Given the description of an element on the screen output the (x, y) to click on. 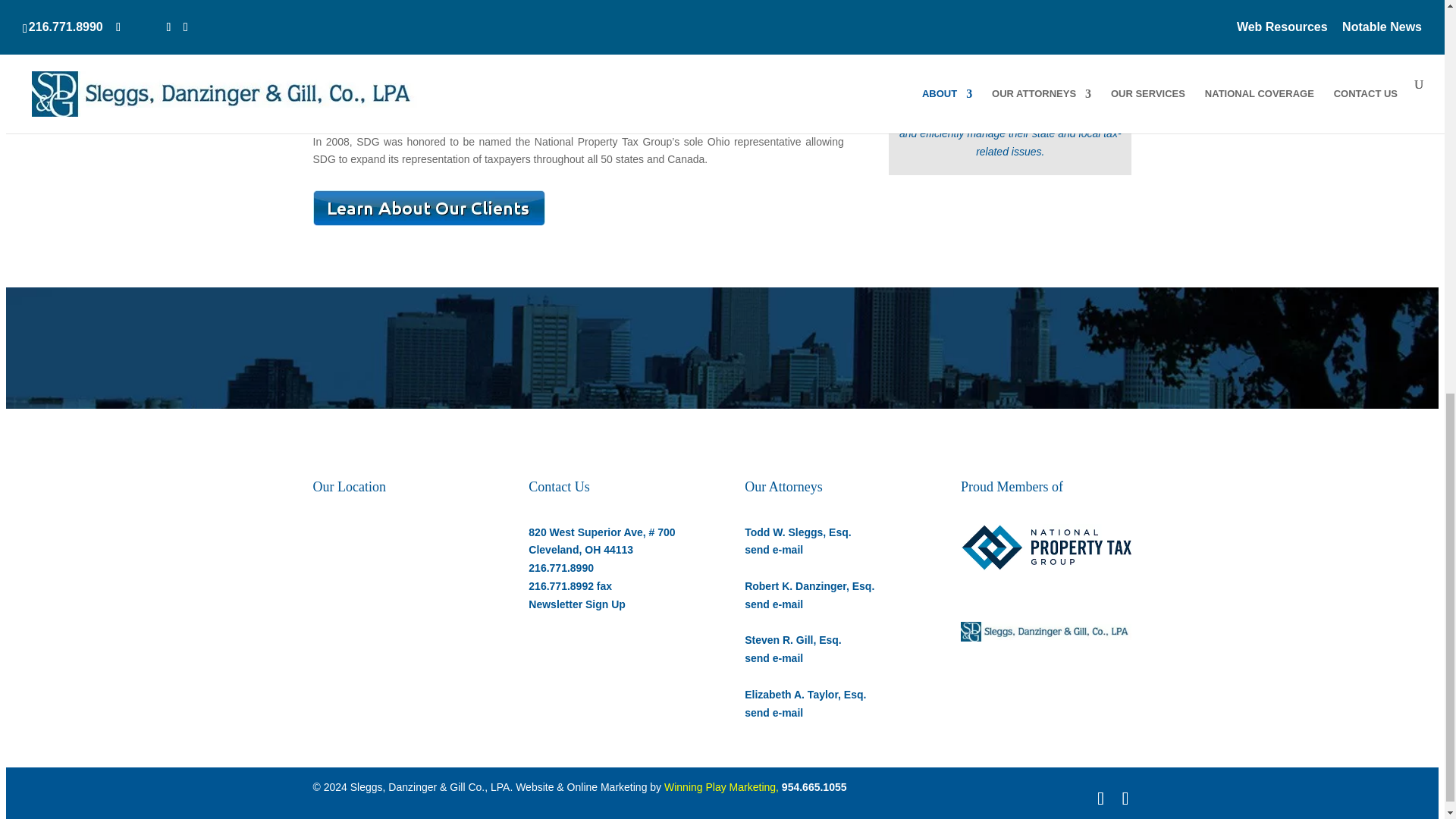
Newsletter Sign Up (577, 604)
send e-mail (773, 604)
send e-mail (773, 657)
send e-mail (773, 549)
